Given the description of an element on the screen output the (x, y) to click on. 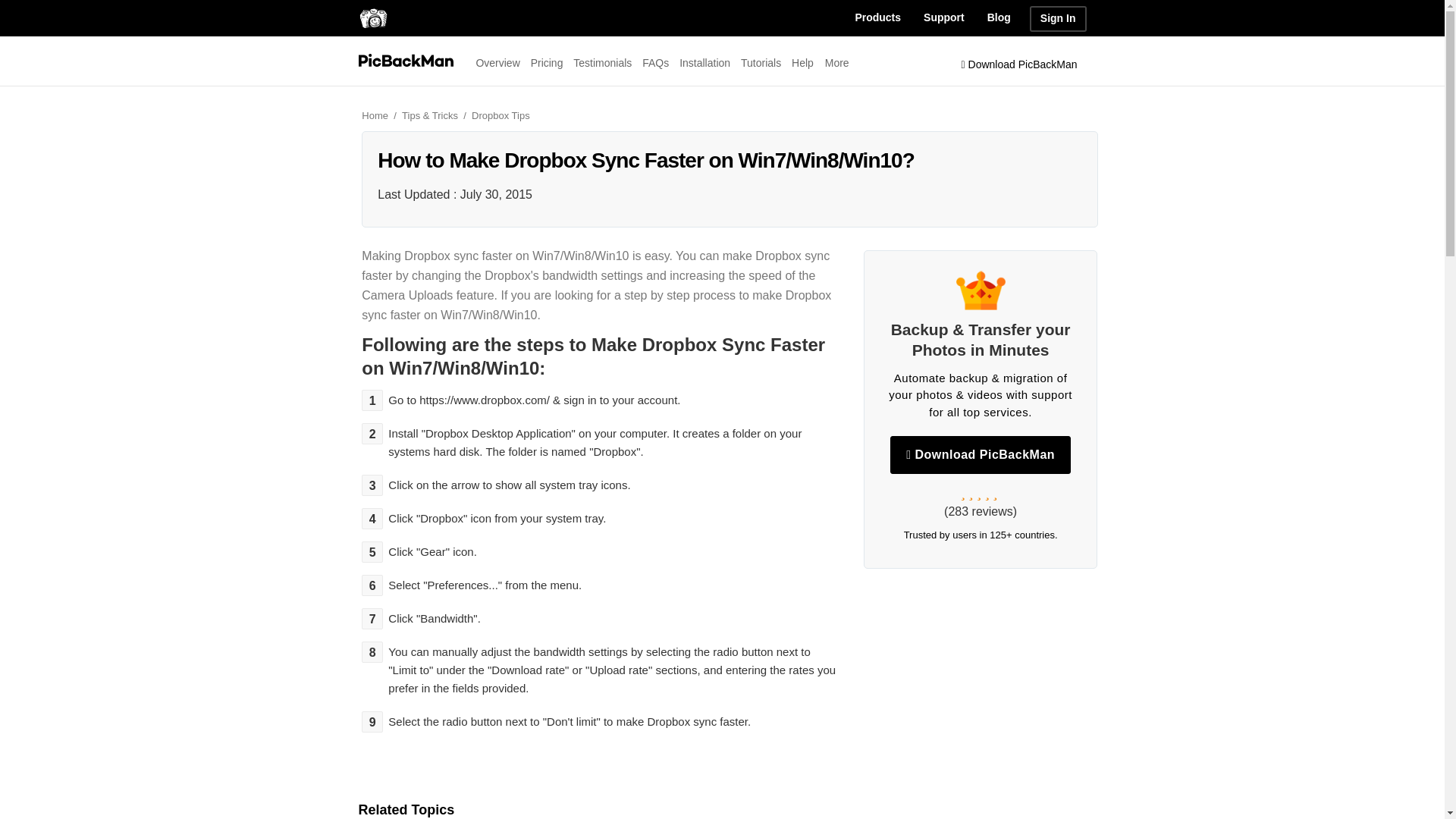
Help (802, 62)
PicBackMan (405, 59)
Help (802, 62)
Pricing (547, 62)
Testimonials (602, 62)
Installation (704, 62)
Installation (704, 62)
FAQs (655, 62)
More (836, 62)
Tutorials (760, 62)
Products (877, 18)
Pricing (547, 62)
Overview (497, 62)
Tutorials (760, 62)
Support (943, 18)
